Given the description of an element on the screen output the (x, y) to click on. 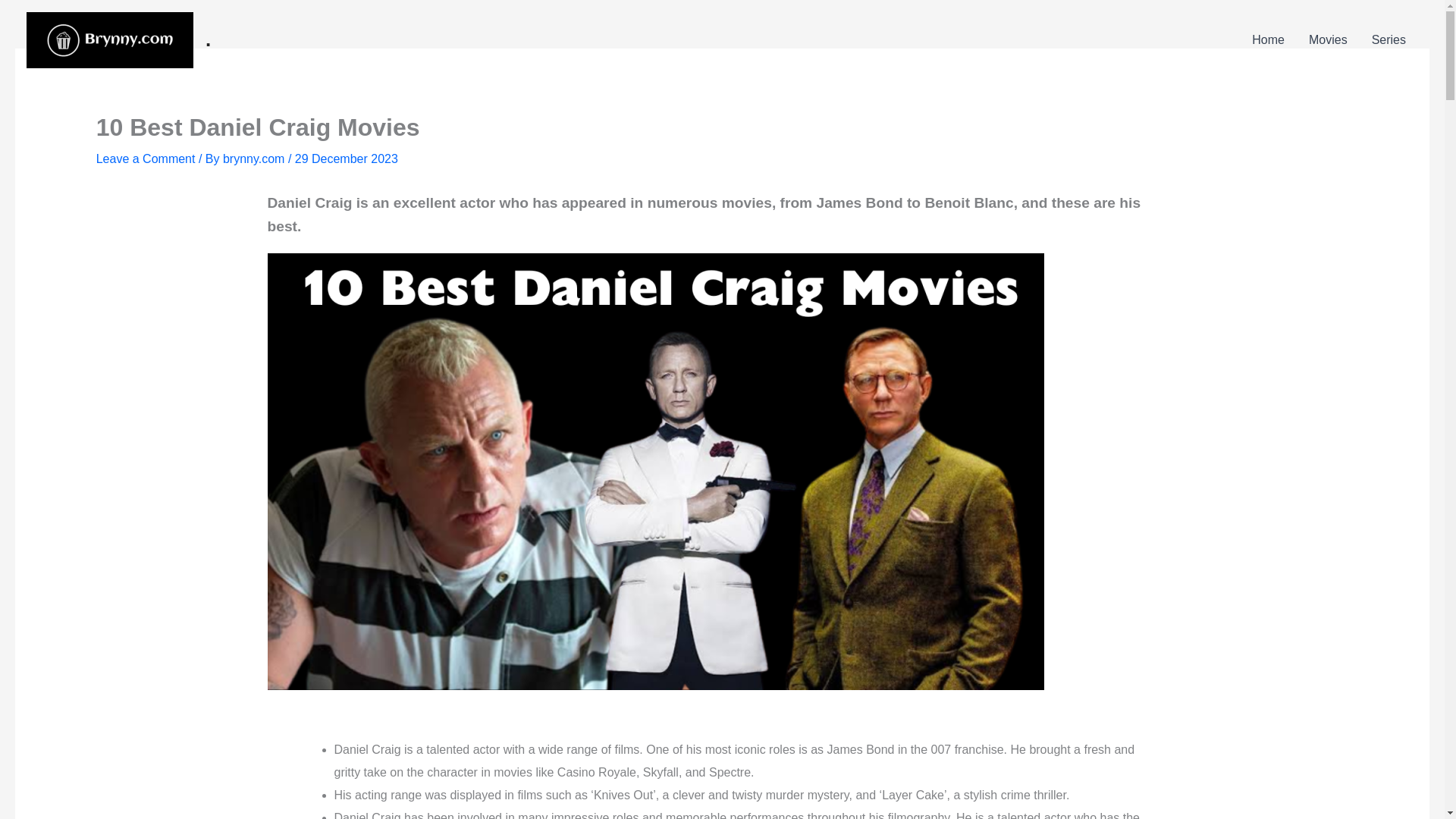
Series (1388, 39)
Leave a Comment (145, 158)
View all posts by brynny.com (255, 158)
brynny.com (255, 158)
Movies (1328, 39)
Home (1268, 39)
